Given the description of an element on the screen output the (x, y) to click on. 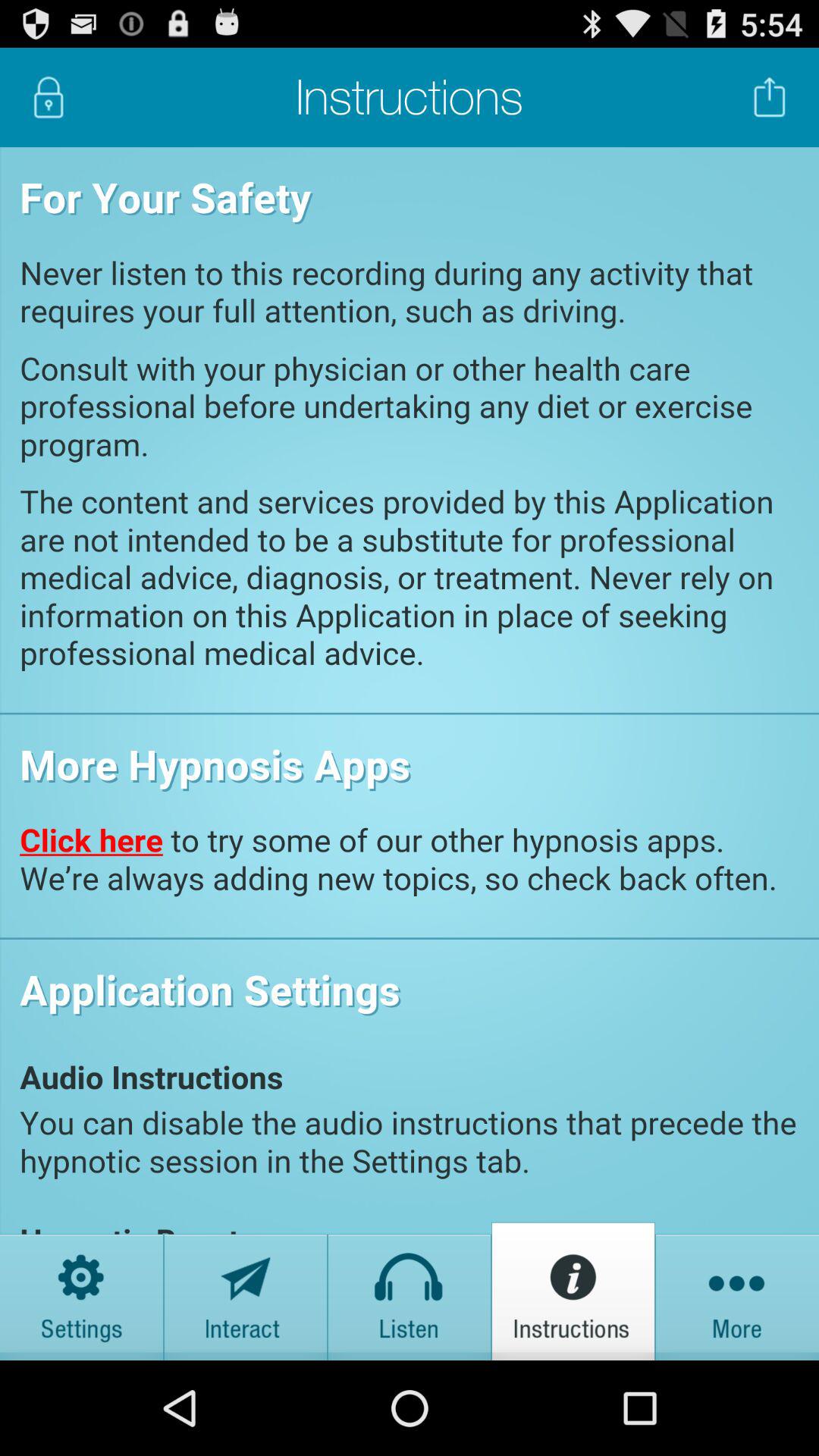
go to the listen tab (409, 1290)
